Given the description of an element on the screen output the (x, y) to click on. 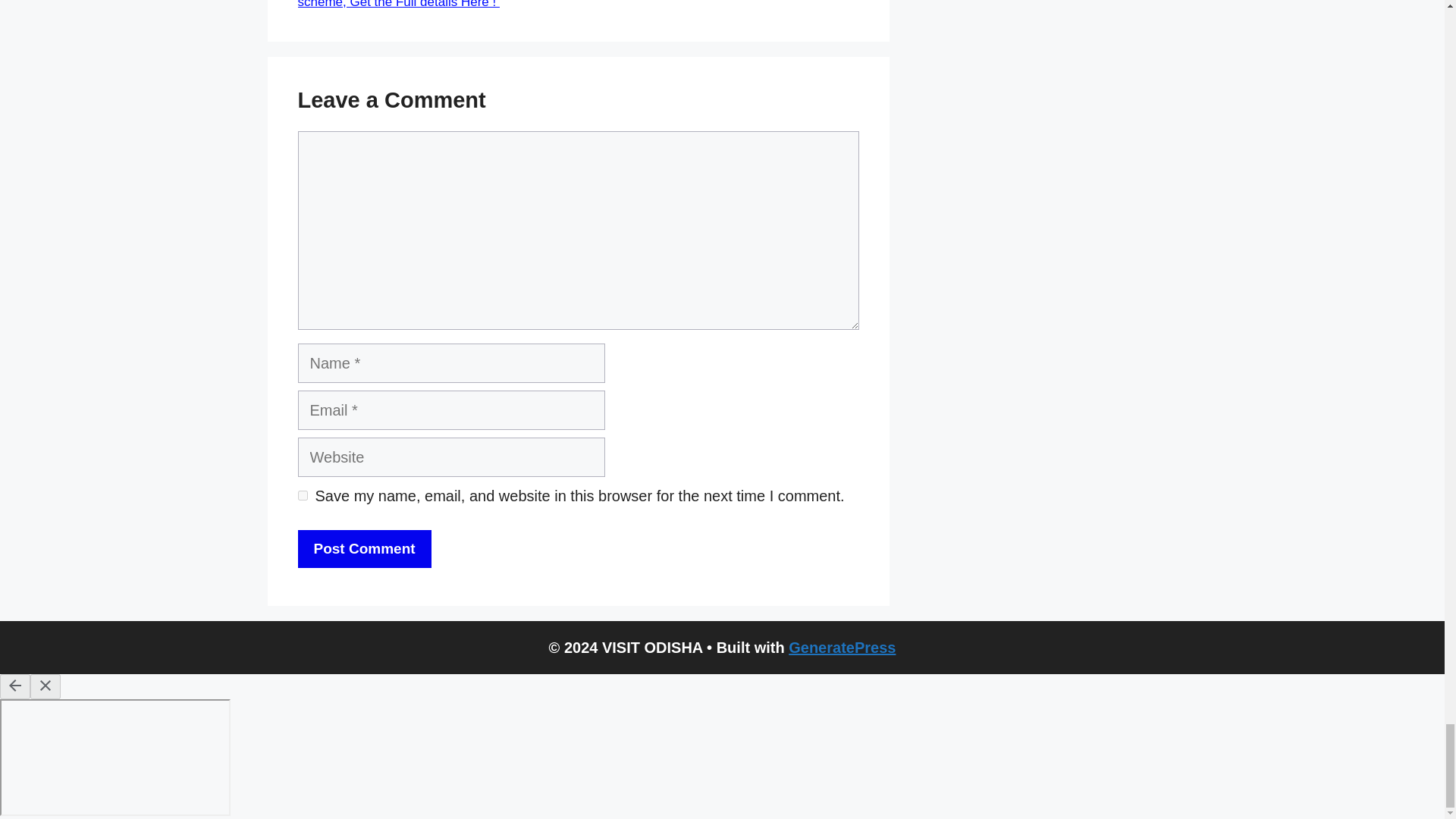
Post Comment (363, 548)
yes (302, 495)
Post Comment (363, 548)
